Given the description of an element on the screen output the (x, y) to click on. 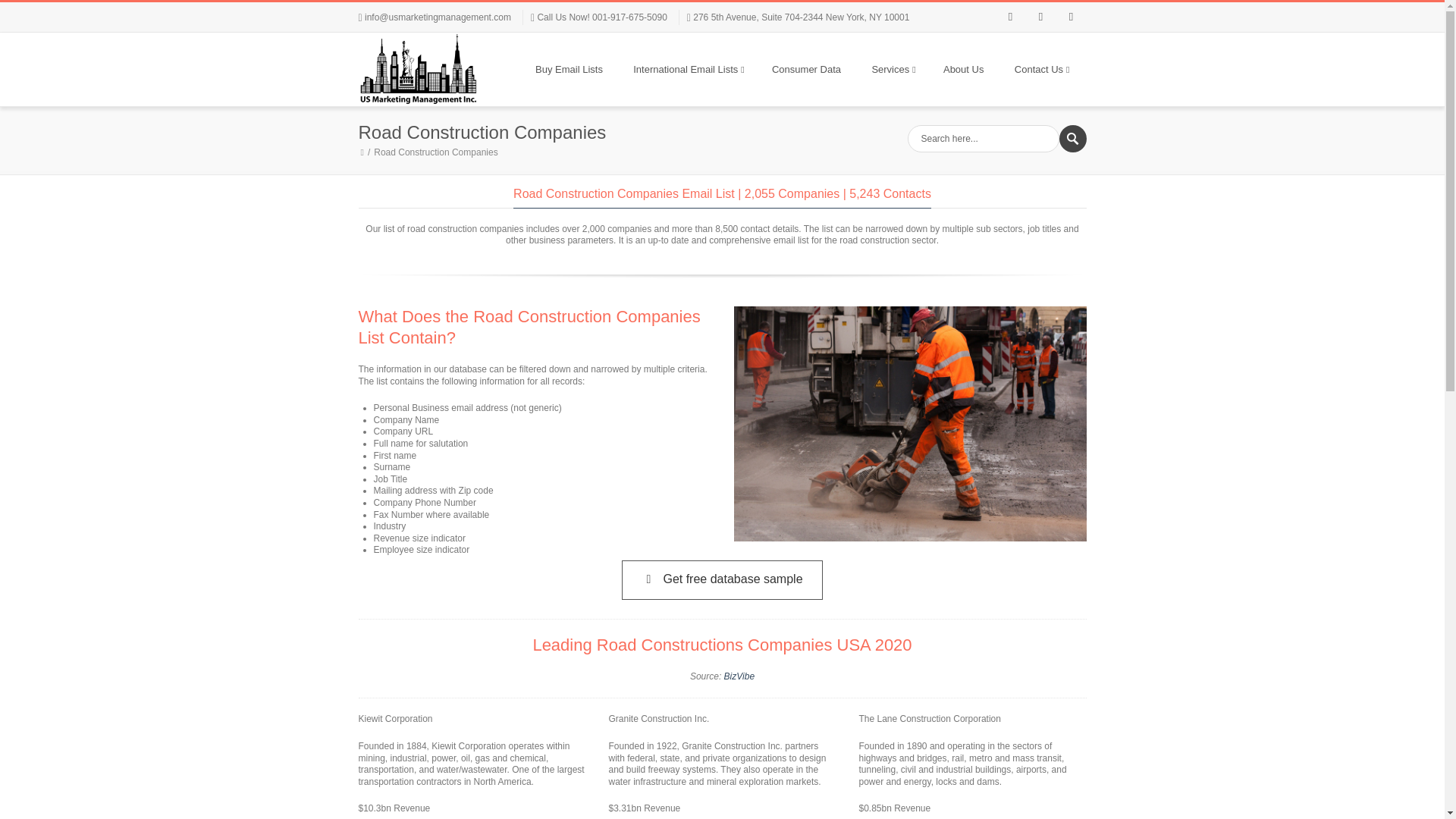
International Email Lists (687, 69)
Consumer Data (806, 69)
submit (1072, 138)
US Marketing Management Inc. (418, 69)
Buy Email Lists (568, 69)
Search here... (982, 138)
Contact Us (1040, 69)
